Given the description of an element on the screen output the (x, y) to click on. 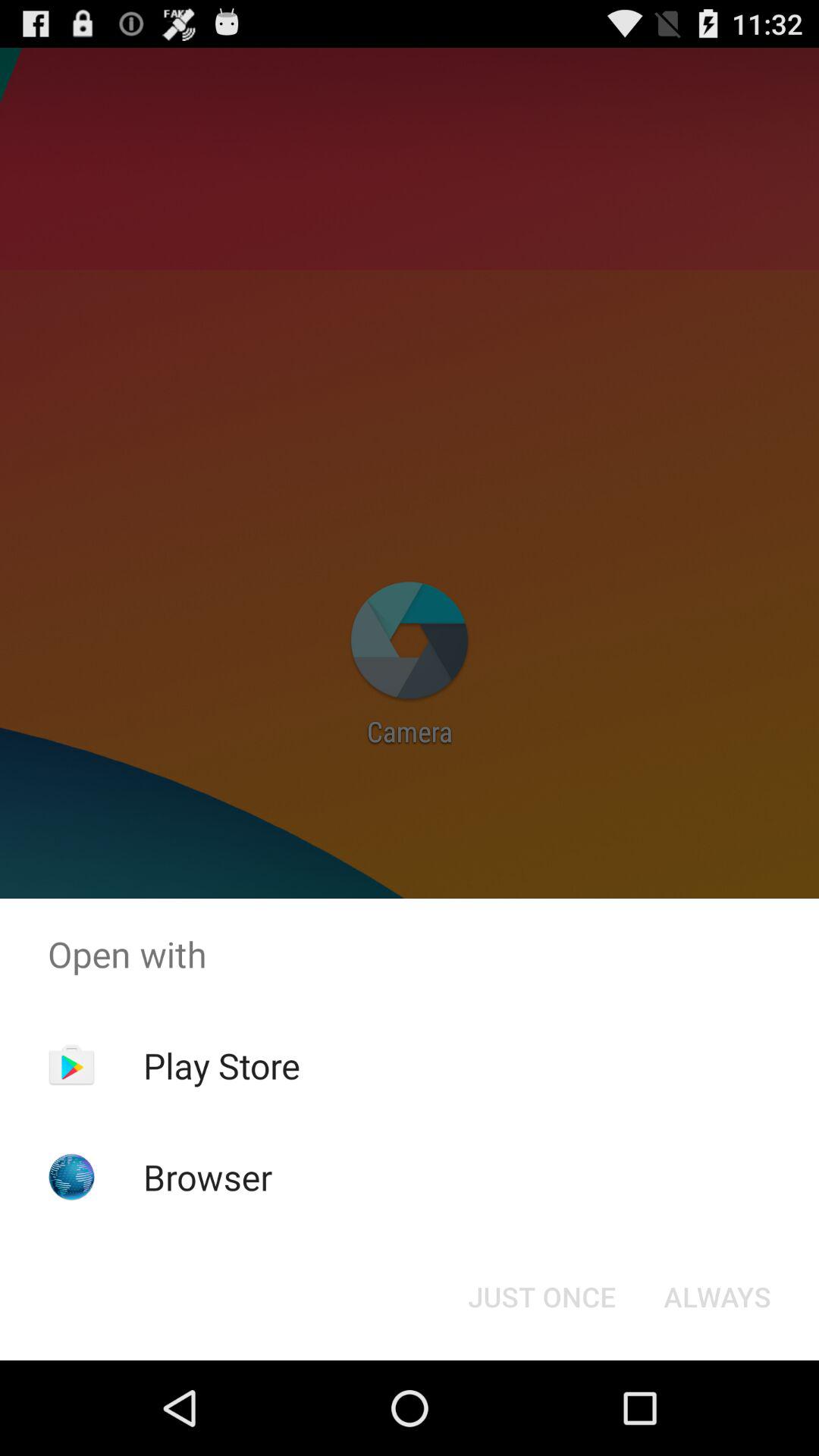
tap browser app (207, 1176)
